Given the description of an element on the screen output the (x, y) to click on. 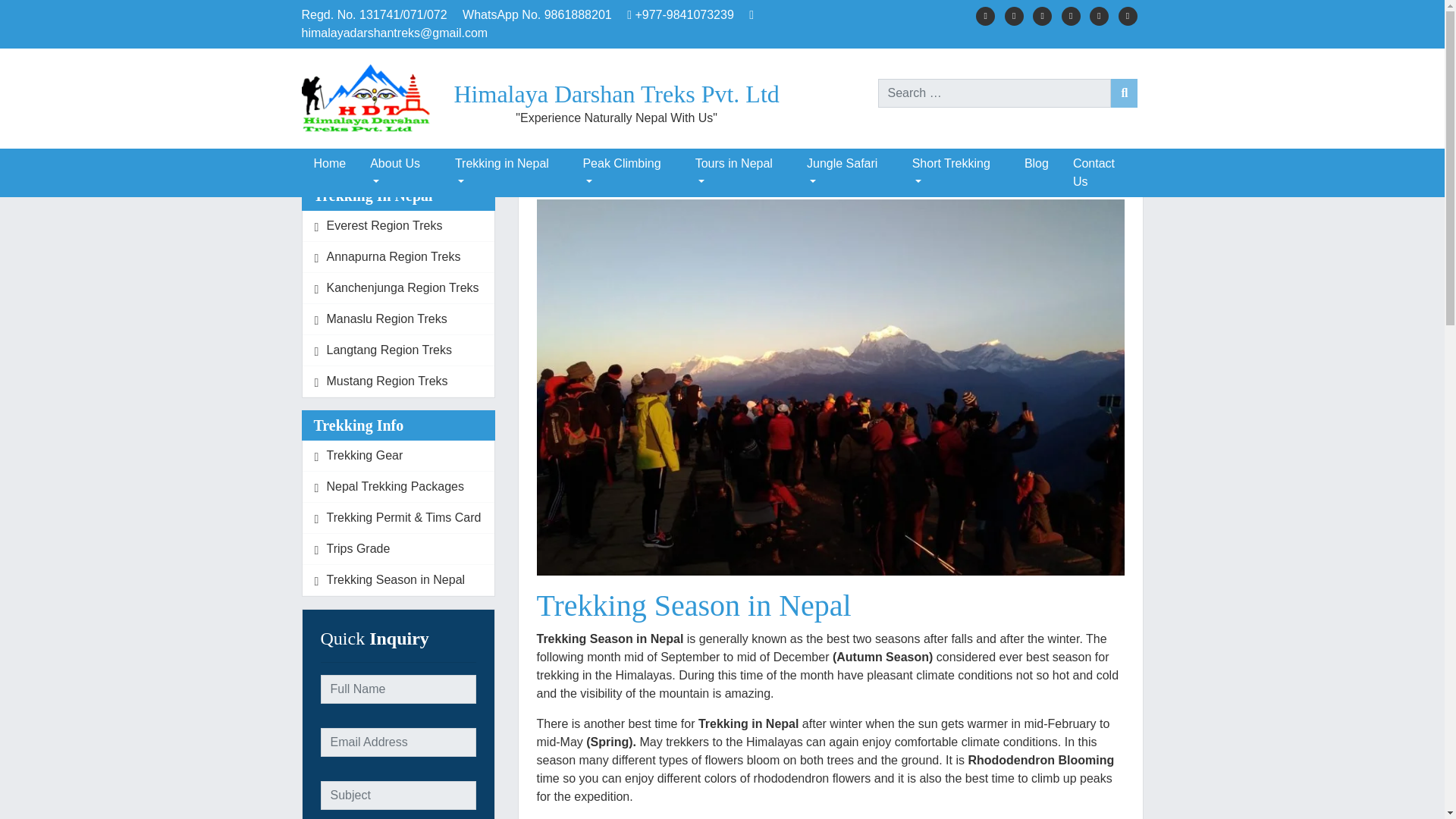
Home (329, 163)
Trekking in Nepal (506, 172)
Trekking in Nepal (506, 172)
About Us (400, 172)
About Us (400, 172)
Home (329, 163)
